Given the description of an element on the screen output the (x, y) to click on. 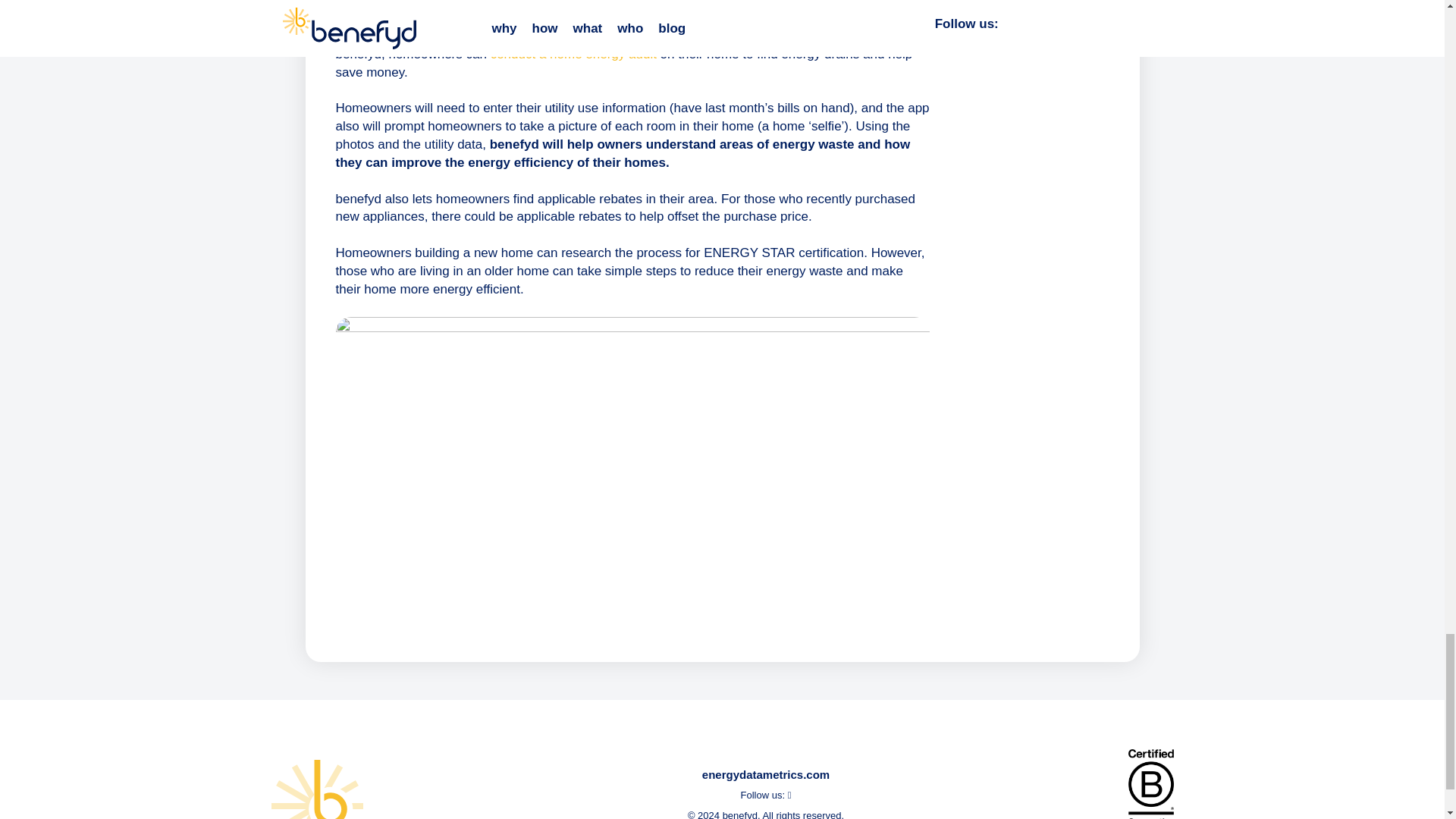
energydatametrics.com (765, 774)
conduct a home energy audit (573, 53)
